Given the description of an element on the screen output the (x, y) to click on. 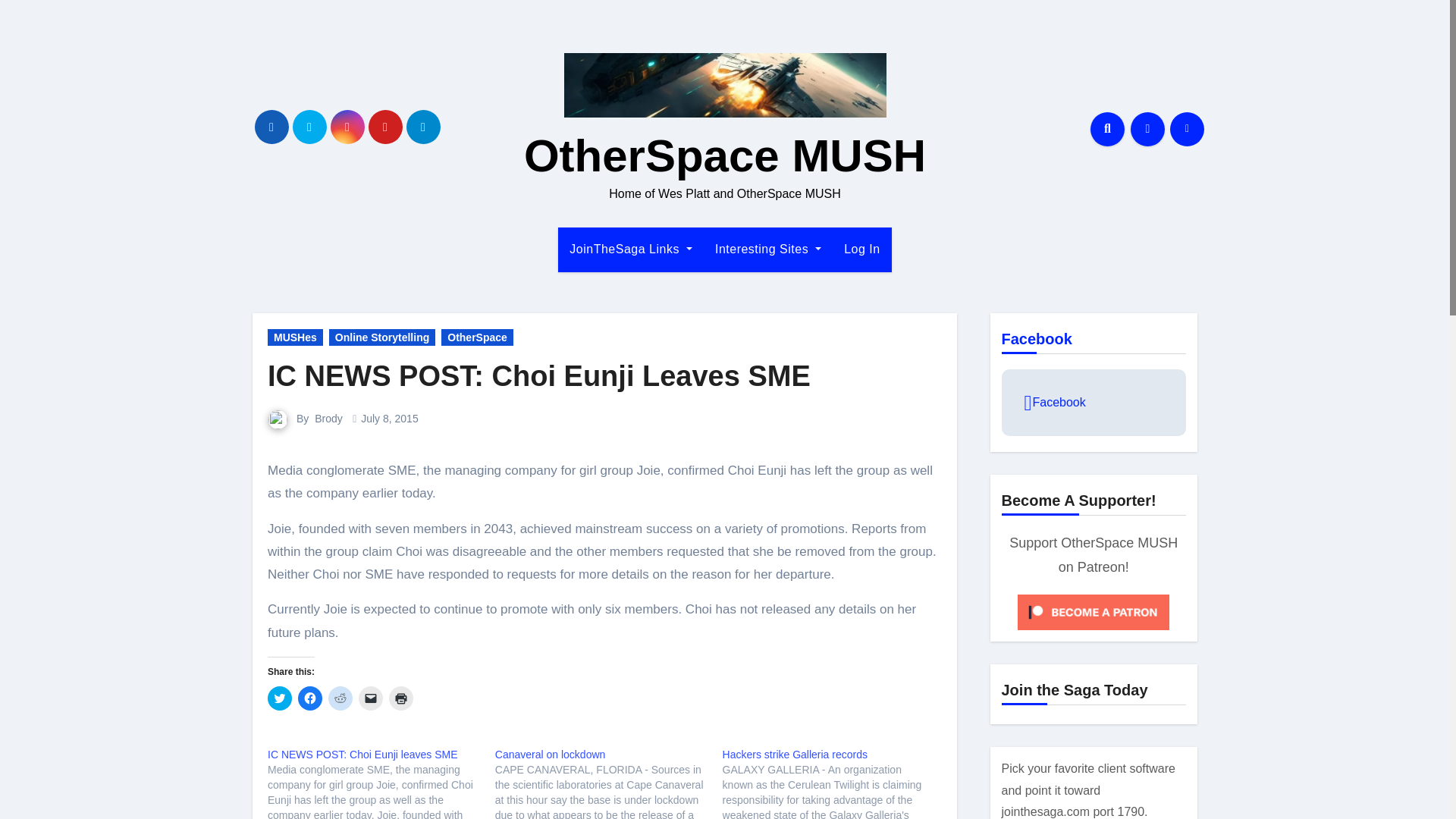
Click to email a link to a friend (370, 698)
Click to share on Reddit (340, 698)
IC NEWS POST: Choi Eunji leaves SME (362, 754)
Interesting Sites (767, 249)
Log In (861, 249)
Log In (861, 249)
OtherSpace (477, 337)
Brody (328, 418)
Click to share on Twitter (279, 698)
Online Storytelling (382, 337)
Interesting Sites (767, 249)
Click to share on Facebook (309, 698)
MUSHes (295, 337)
July 8, 2015 (390, 418)
OtherSpace MUSH (725, 155)
